Given the description of an element on the screen output the (x, y) to click on. 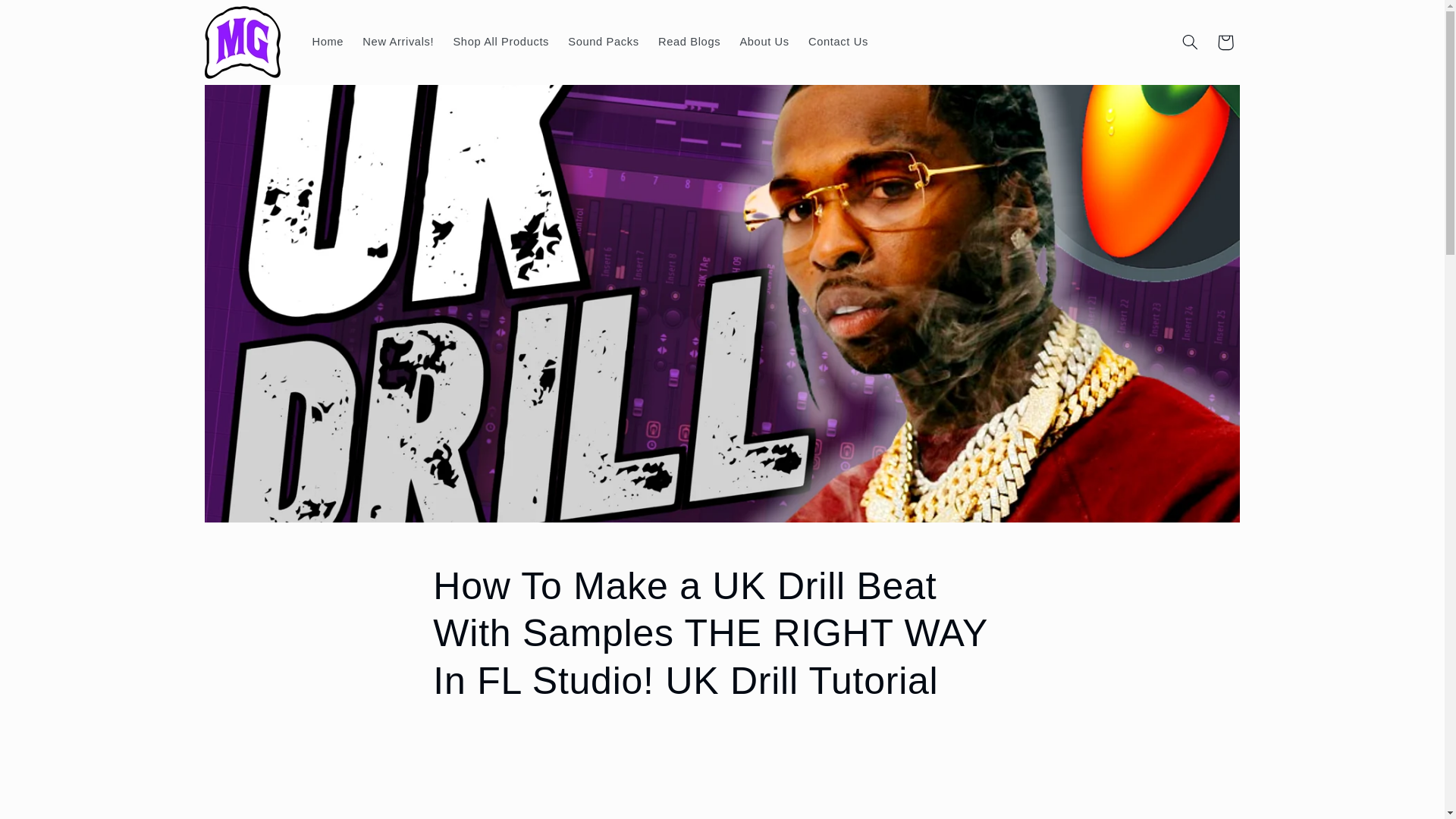
Skip to content (48, 18)
New Arrivals! (398, 41)
Contact Us (837, 41)
Sound Packs (604, 41)
Home (327, 41)
Shop All Products (501, 41)
Read Blogs (688, 41)
About Us (764, 41)
Cart (1225, 42)
